Given the description of an element on the screen output the (x, y) to click on. 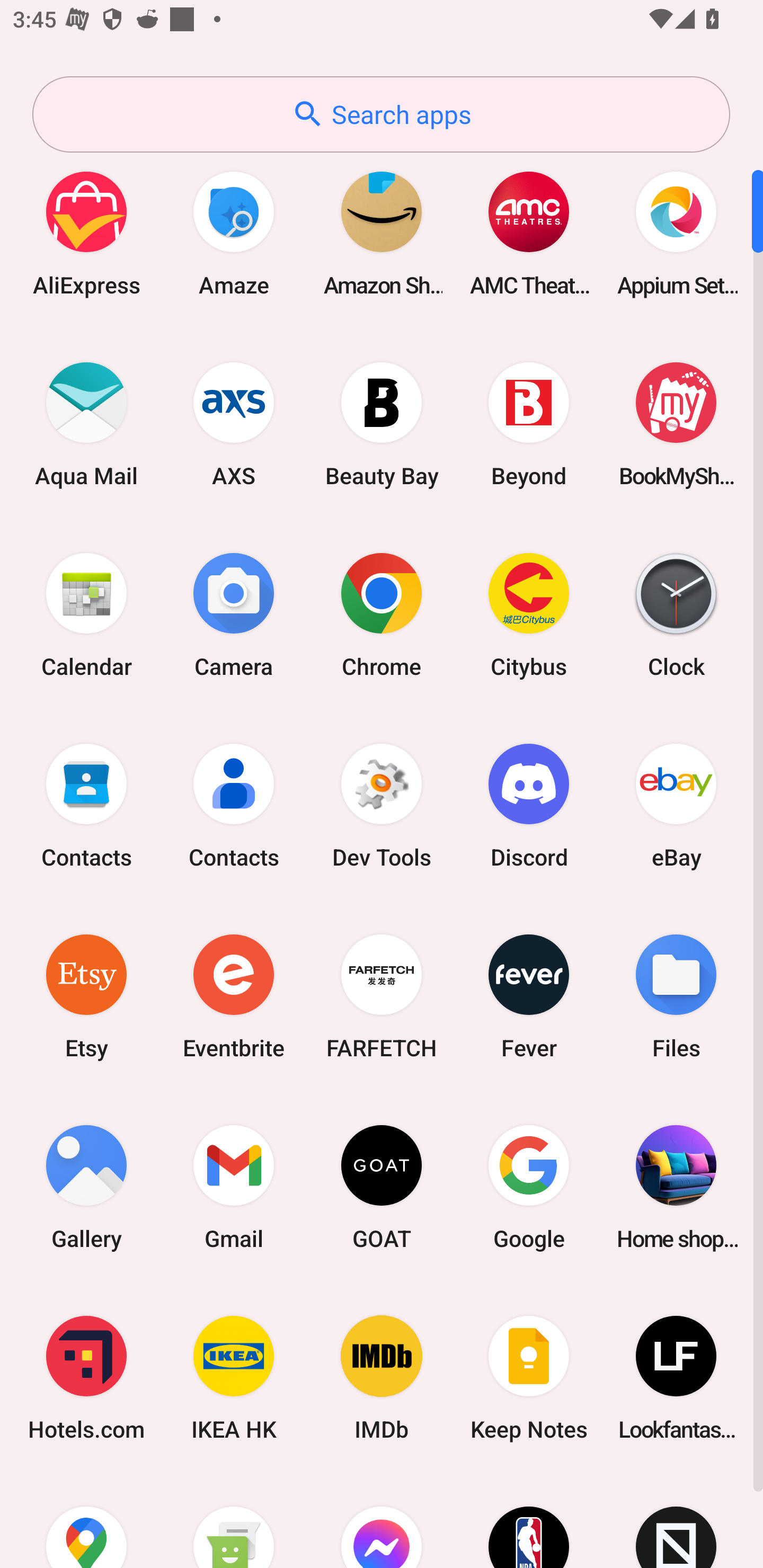
  Search apps (381, 114)
AliExpress (86, 233)
Amaze (233, 233)
Amazon Shopping (381, 233)
AMC Theatres (528, 233)
Appium Settings (676, 233)
Aqua Mail (86, 424)
AXS (233, 424)
Beauty Bay (381, 424)
Beyond (528, 424)
BookMyShow (676, 424)
Calendar (86, 614)
Camera (233, 614)
Chrome (381, 614)
Citybus (528, 614)
Clock (676, 614)
Contacts (86, 805)
Contacts (233, 805)
Dev Tools (381, 805)
Discord (528, 805)
eBay (676, 805)
Etsy (86, 996)
Eventbrite (233, 996)
FARFETCH (381, 996)
Fever (528, 996)
Files (676, 996)
Gallery (86, 1186)
Gmail (233, 1186)
GOAT (381, 1186)
Google (528, 1186)
Home shopping (676, 1186)
Hotels.com (86, 1377)
IKEA HK (233, 1377)
IMDb (381, 1377)
Keep Notes (528, 1377)
Lookfantastic (676, 1377)
Maps (86, 1520)
Messaging (233, 1520)
Messenger (381, 1520)
NBA (528, 1520)
Novelship (676, 1520)
